Given the description of an element on the screen output the (x, y) to click on. 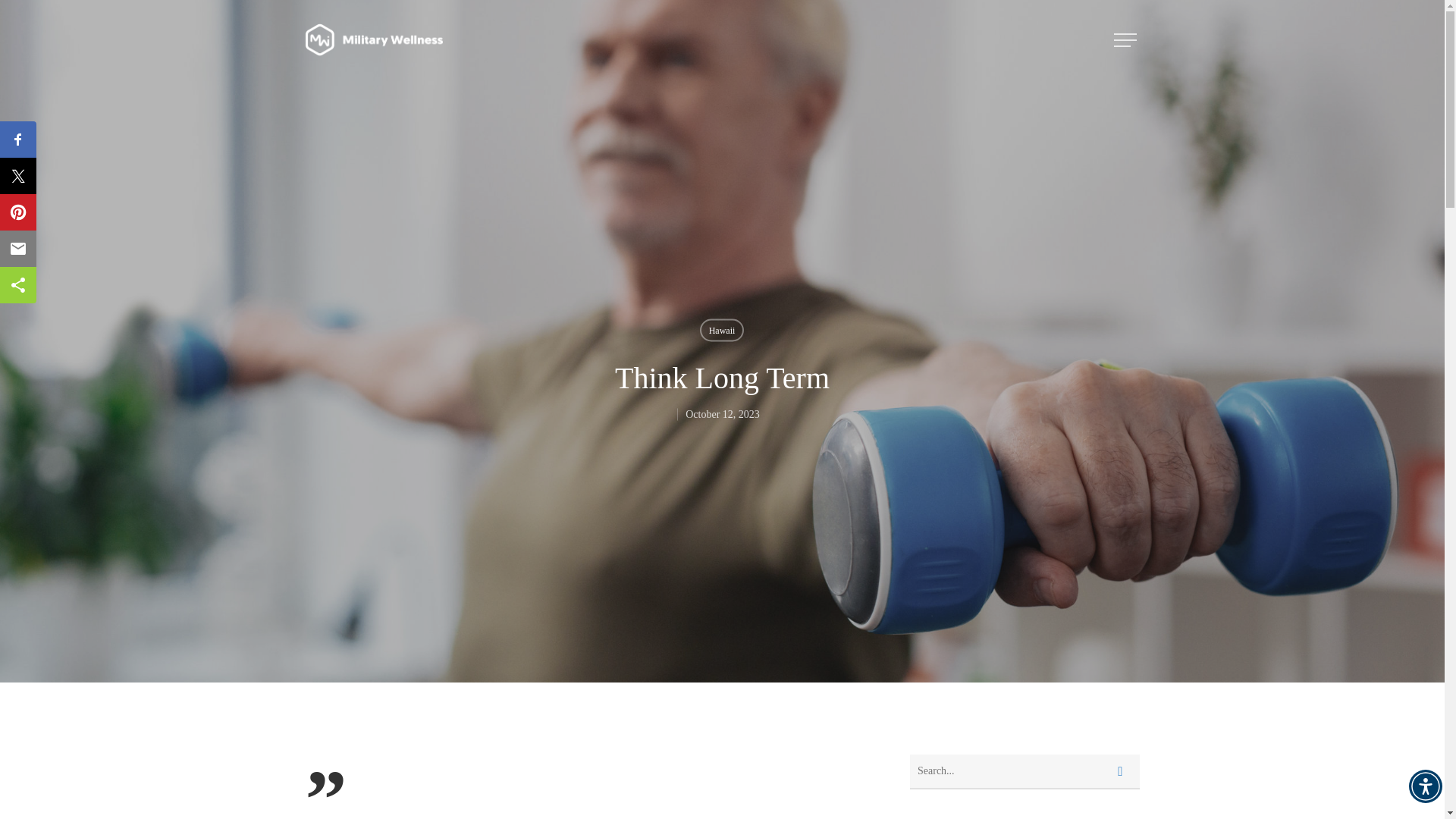
Search for: (1025, 771)
Hawaii (722, 329)
Accessibility Menu (1425, 786)
